Given the description of an element on the screen output the (x, y) to click on. 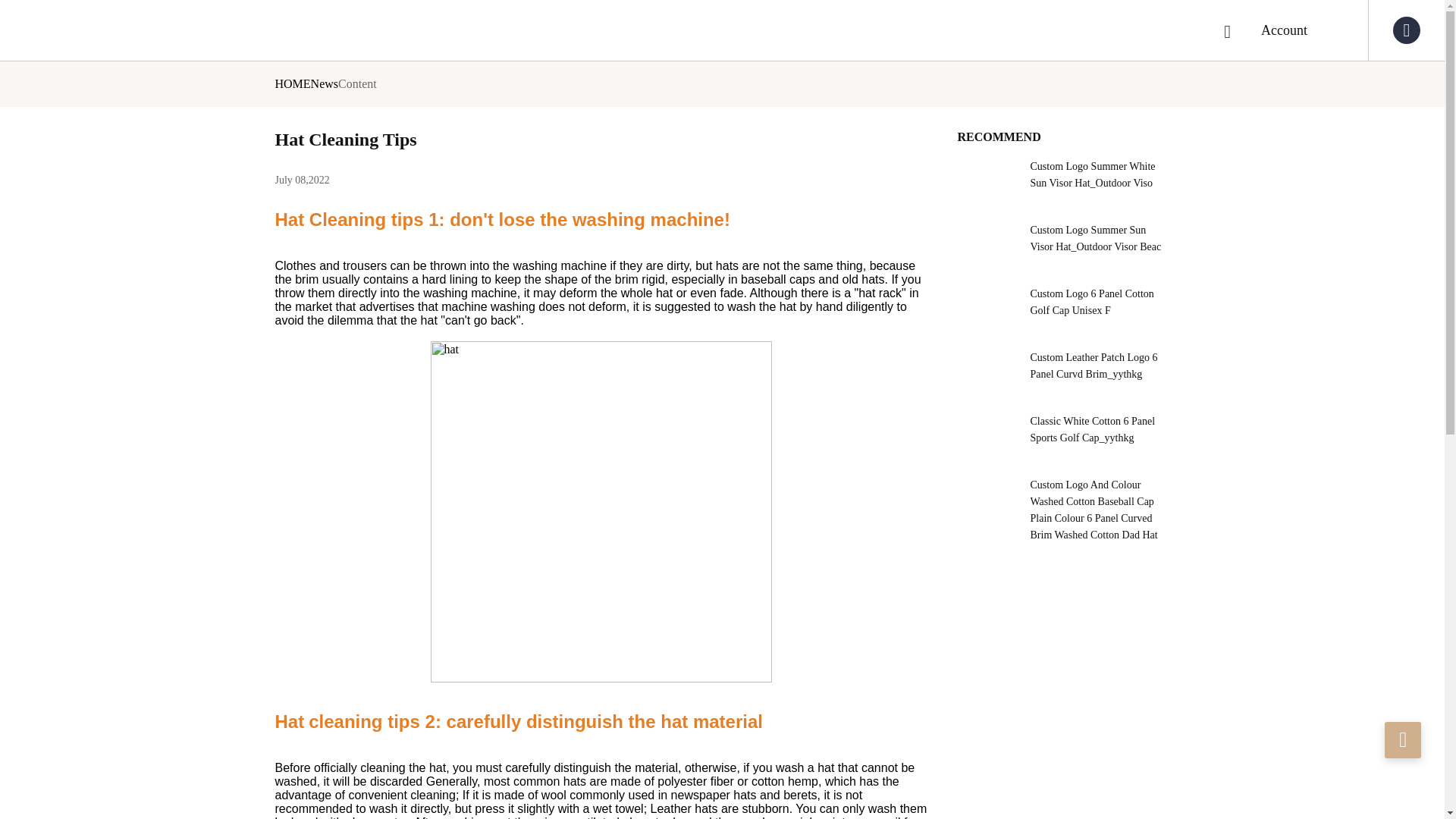
HOME (292, 83)
Custom Logo 6 Panel Cotton Golf Cap Unisex F (1095, 302)
Custom Logo 6 Panel Cotton Golf Cap Unisex F (1062, 302)
News (324, 83)
CONTACT US (1402, 739)
